Given the description of an element on the screen output the (x, y) to click on. 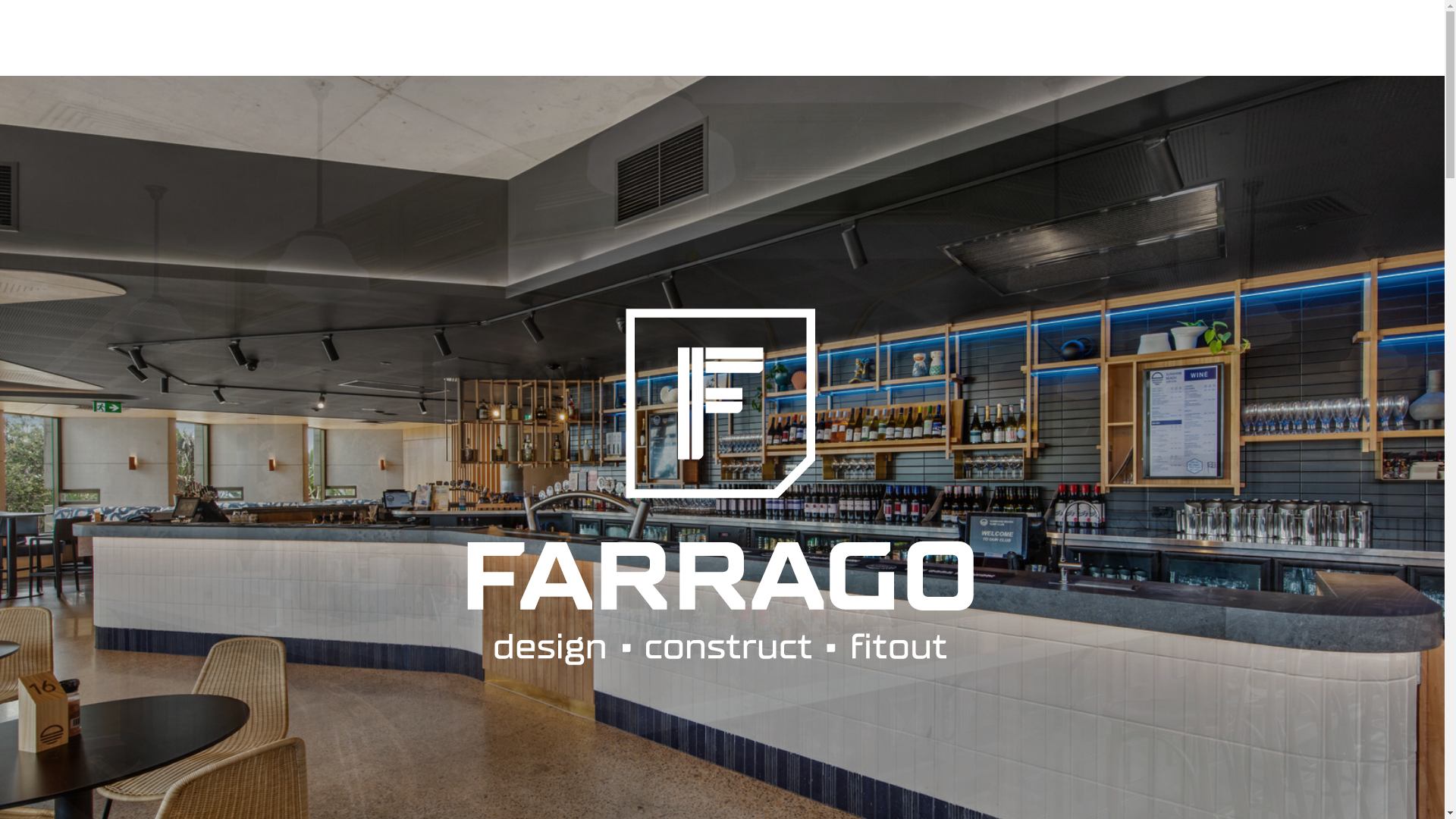
our services Element type: text (1046, 37)
our team Element type: text (928, 37)
portfolio Element type: text (1161, 37)
contact us Element type: text (1321, 37)
blog Element type: text (1242, 37)
about Element type: text (840, 37)
